Given the description of an element on the screen output the (x, y) to click on. 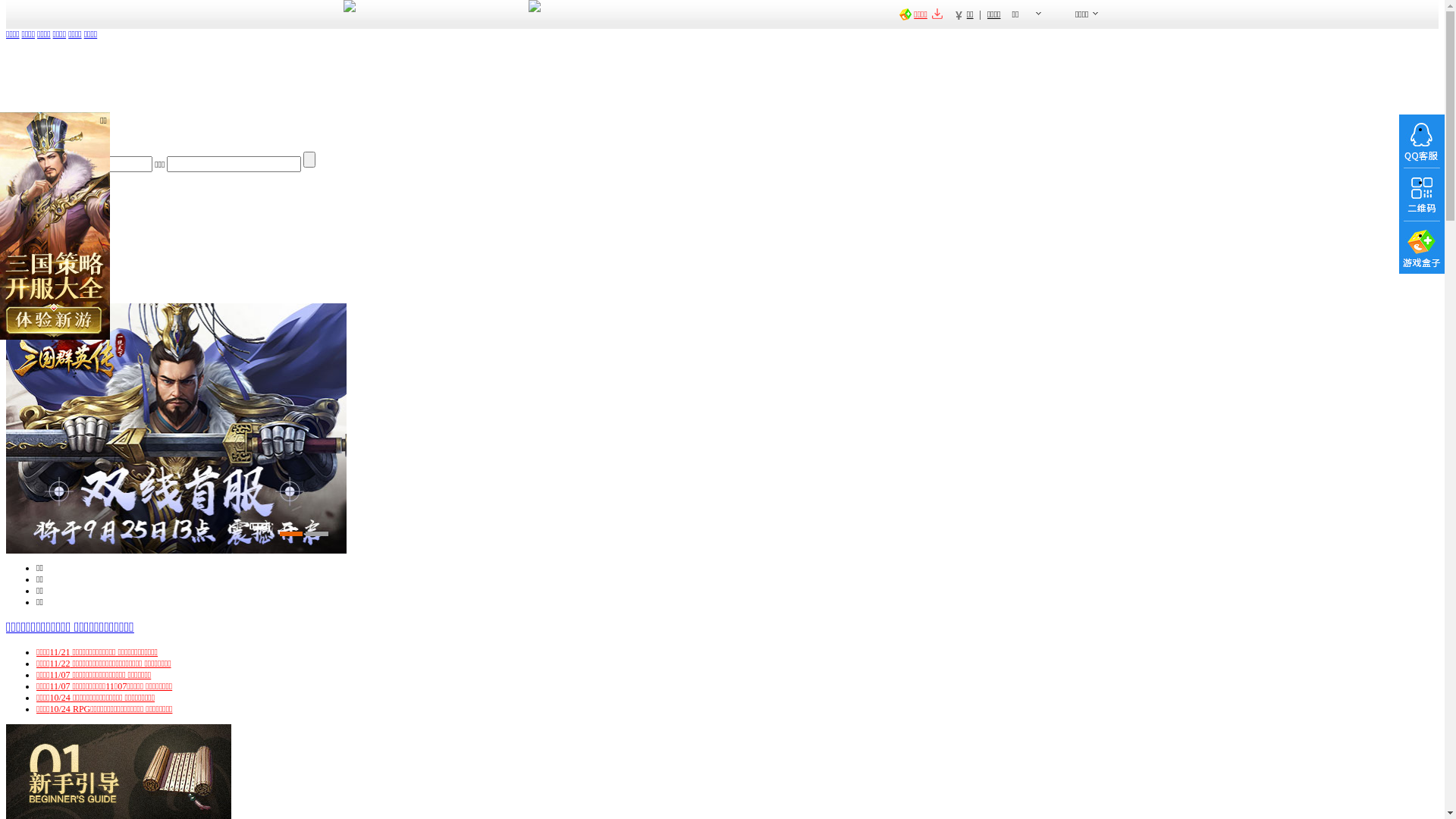
+ Element type: text (8, 233)
